Given the description of an element on the screen output the (x, y) to click on. 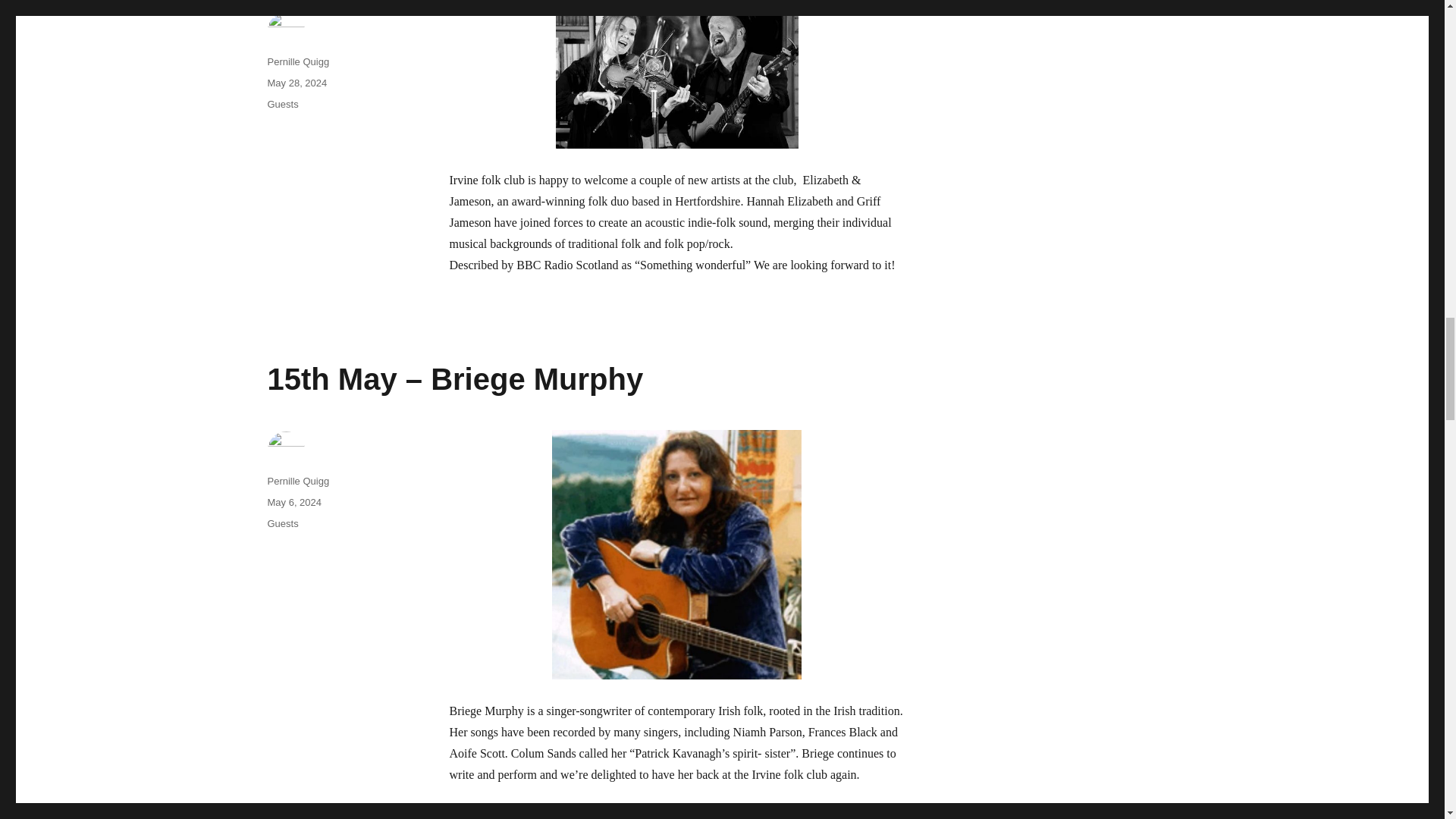
May 28, 2024 (296, 82)
May 6, 2024 (293, 501)
Guests (282, 523)
Pernille Quigg (297, 480)
Guests (282, 103)
Pernille Quigg (297, 61)
